Given the description of an element on the screen output the (x, y) to click on. 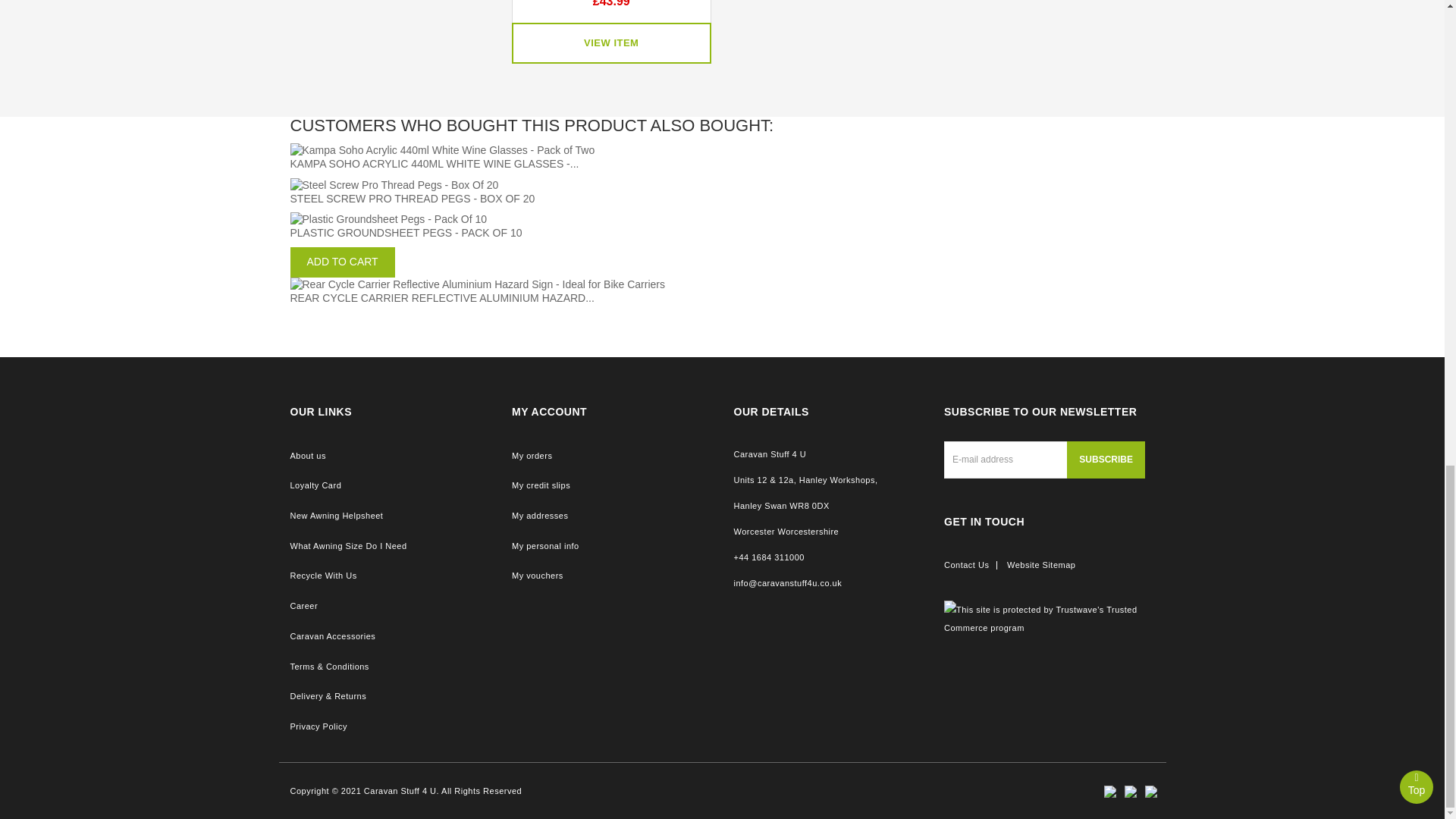
View (611, 43)
